Given the description of an element on the screen output the (x, y) to click on. 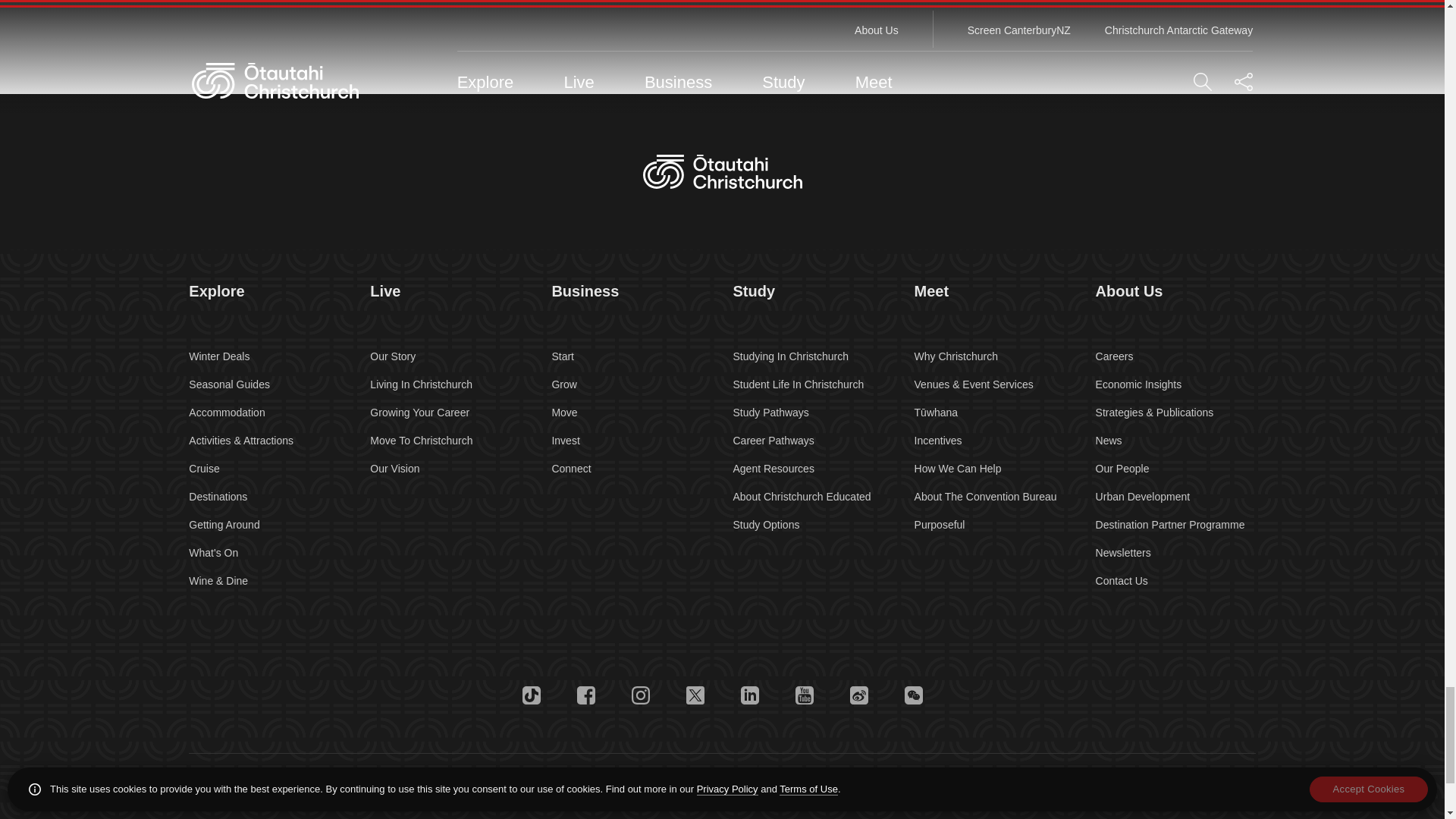
Follow ChristchurchNZ on Instagram (639, 695)
Visit ChristchurchNZ on TikTok (530, 695)
Visit ChristchurchNZ on YouTube (803, 695)
Visit ChristchurchNZ on Weibo (857, 695)
Visit ChristchurchNZ on Linkedin (748, 695)
Visit ChristchurchNZ on Facebook (585, 695)
Visit ChristchurchNZ on WeChat (912, 695)
Follow ChristchurchNZ on X (694, 695)
